Given the description of an element on the screen output the (x, y) to click on. 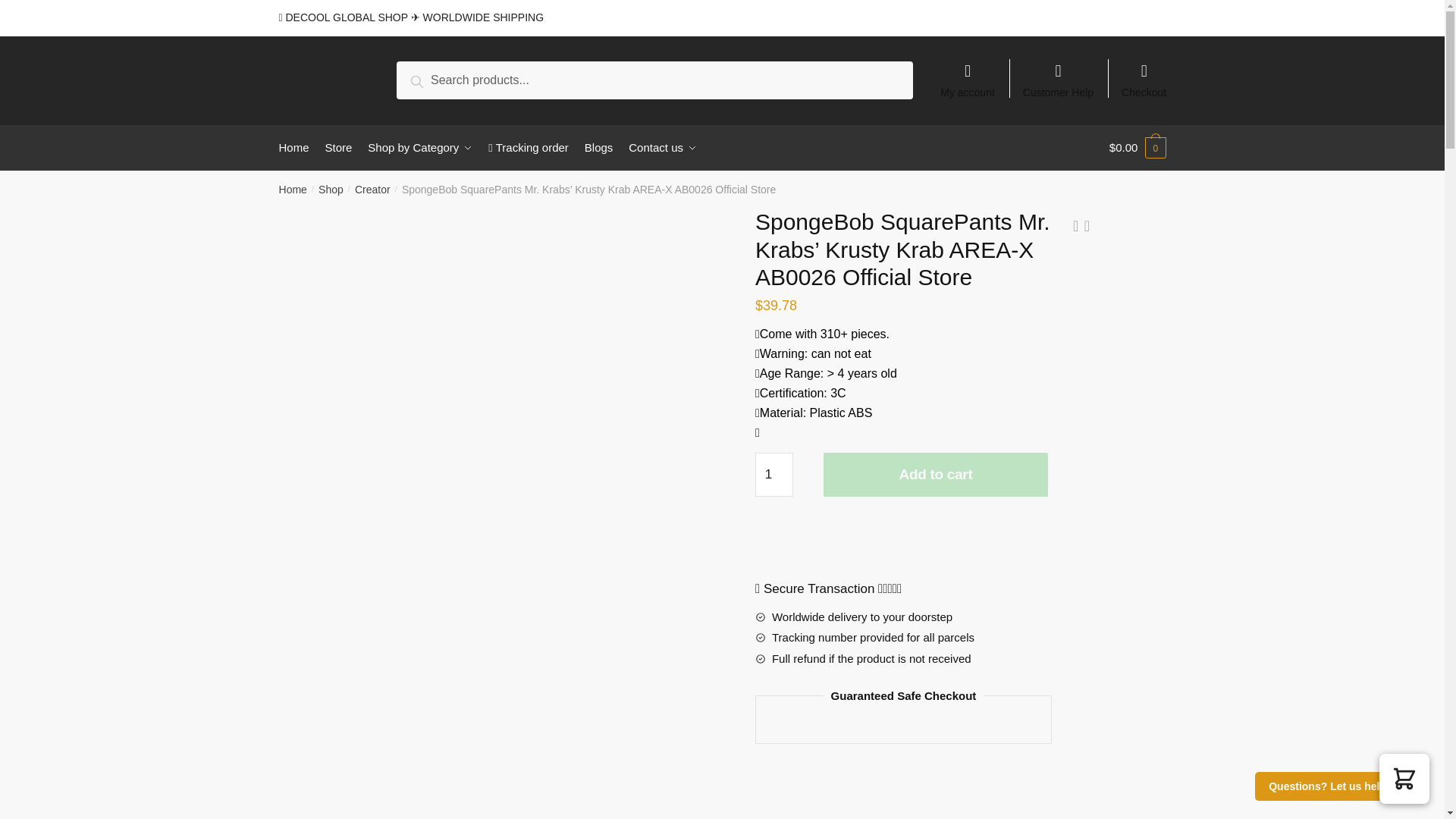
Checkout (1144, 73)
Search (433, 78)
Shop by Category (420, 147)
View your shopping cart (1137, 147)
Store (338, 147)
Shop (330, 189)
Home (293, 189)
Blogs (598, 147)
Customer Help (1058, 73)
Creator (372, 189)
